Given the description of an element on the screen output the (x, y) to click on. 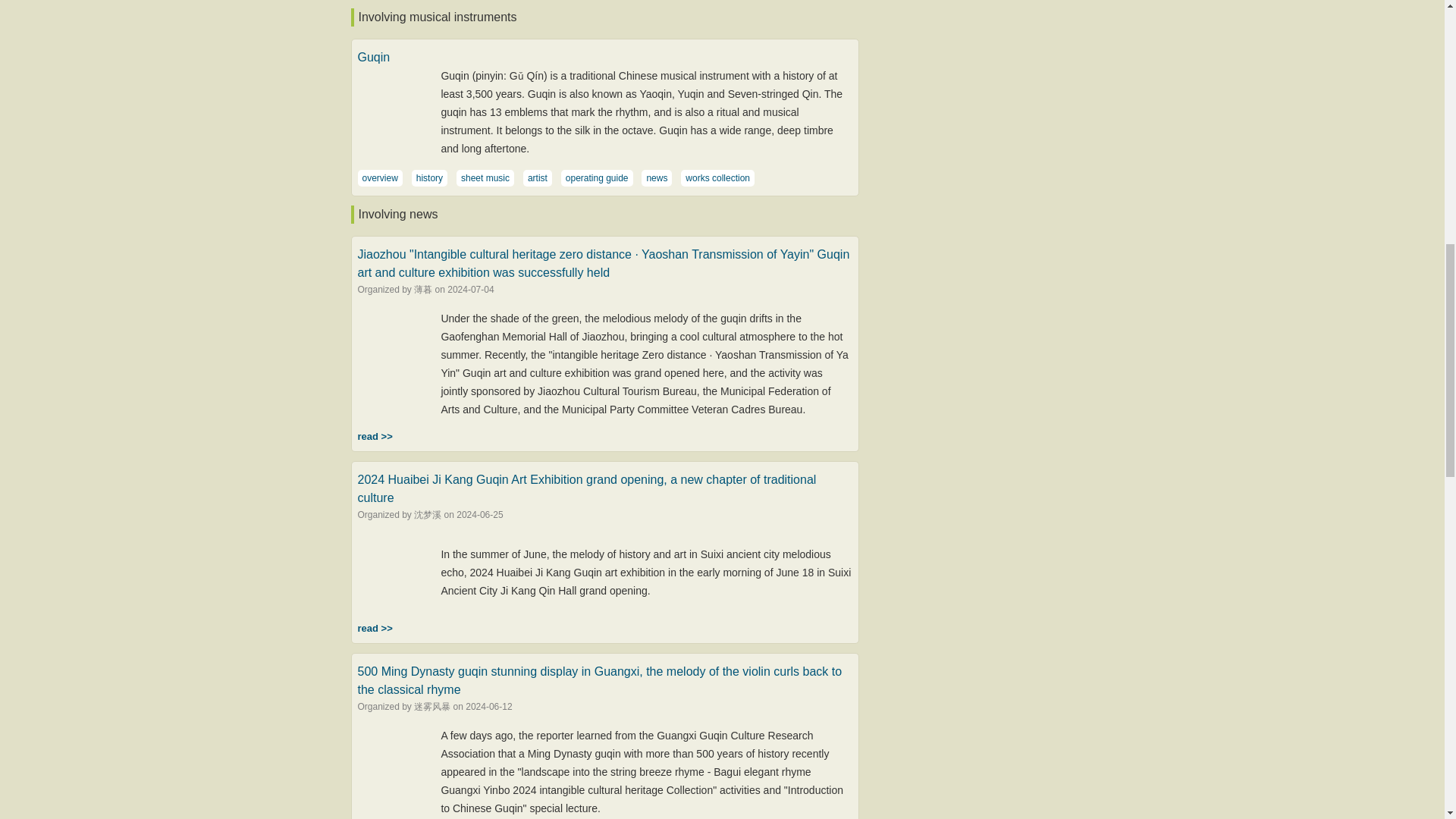
news (656, 177)
sheet music (485, 177)
overview (379, 177)
works collection (717, 177)
operating guide (597, 177)
Guqin (374, 56)
history (429, 177)
artist (537, 177)
